Given the description of an element on the screen output the (x, y) to click on. 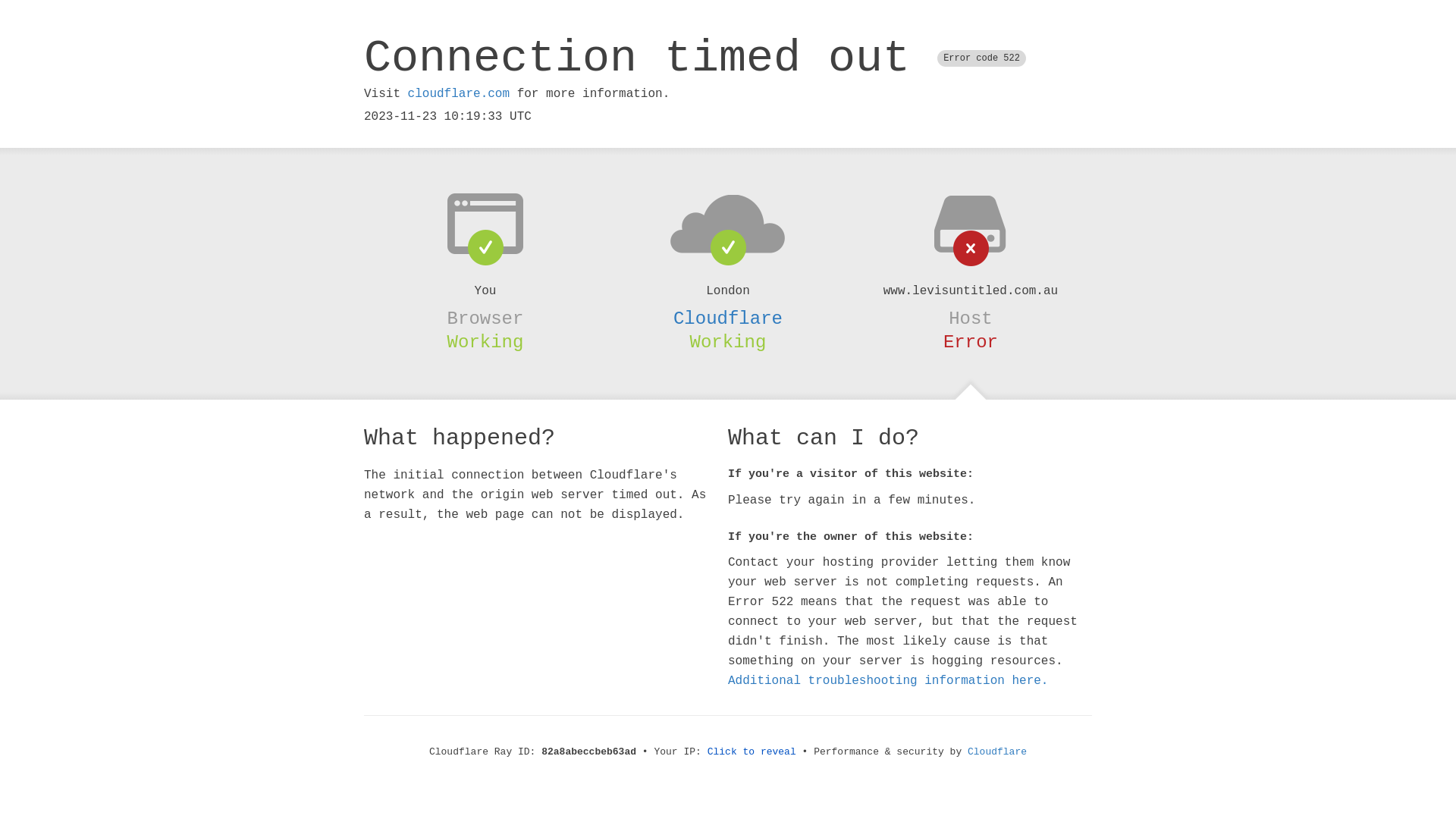
cloudflare.com Element type: text (458, 93)
Additional troubleshooting information here. Element type: text (888, 680)
Cloudflare Element type: text (727, 318)
Click to reveal Element type: text (751, 751)
Cloudflare Element type: text (996, 751)
